Given the description of an element on the screen output the (x, y) to click on. 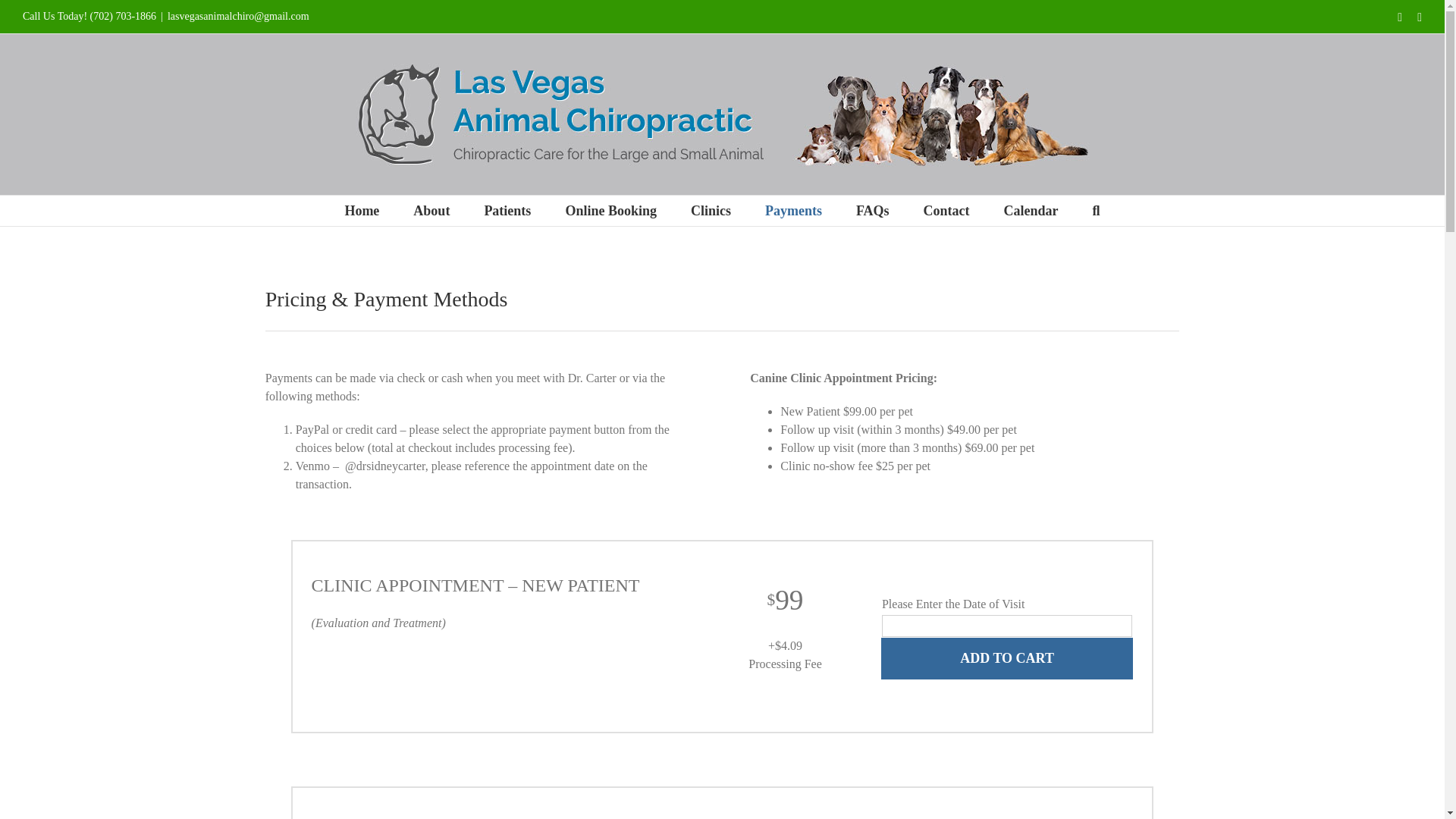
Patients (507, 210)
Clinics (710, 210)
About (431, 210)
Calendar (1031, 210)
Payments (793, 210)
PayPal - The safer, easier way to pay online! (1006, 658)
Home (360, 210)
Add to Cart (1006, 658)
Online Booking (610, 210)
Contact (946, 210)
FAQs (872, 210)
Add to Cart (1006, 658)
